Given the description of an element on the screen output the (x, y) to click on. 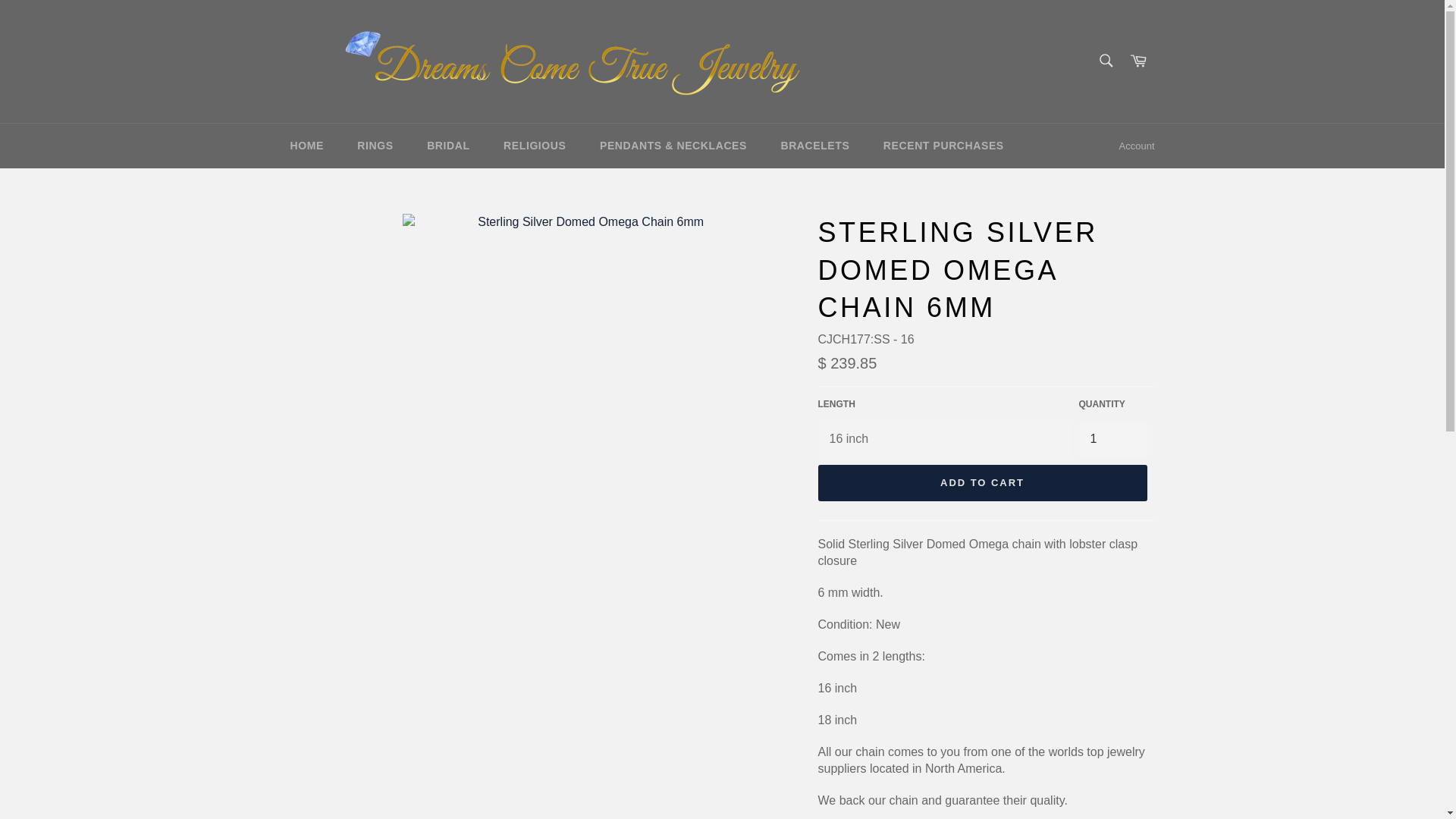
ADD TO CART (981, 483)
Cart (1138, 60)
RELIGIOUS (533, 145)
Account (1136, 146)
BRIDAL (448, 145)
HOME (306, 145)
RINGS (374, 145)
RECENT PURCHASES (943, 145)
BRACELETS (814, 145)
Search (1104, 60)
